Given the description of an element on the screen output the (x, y) to click on. 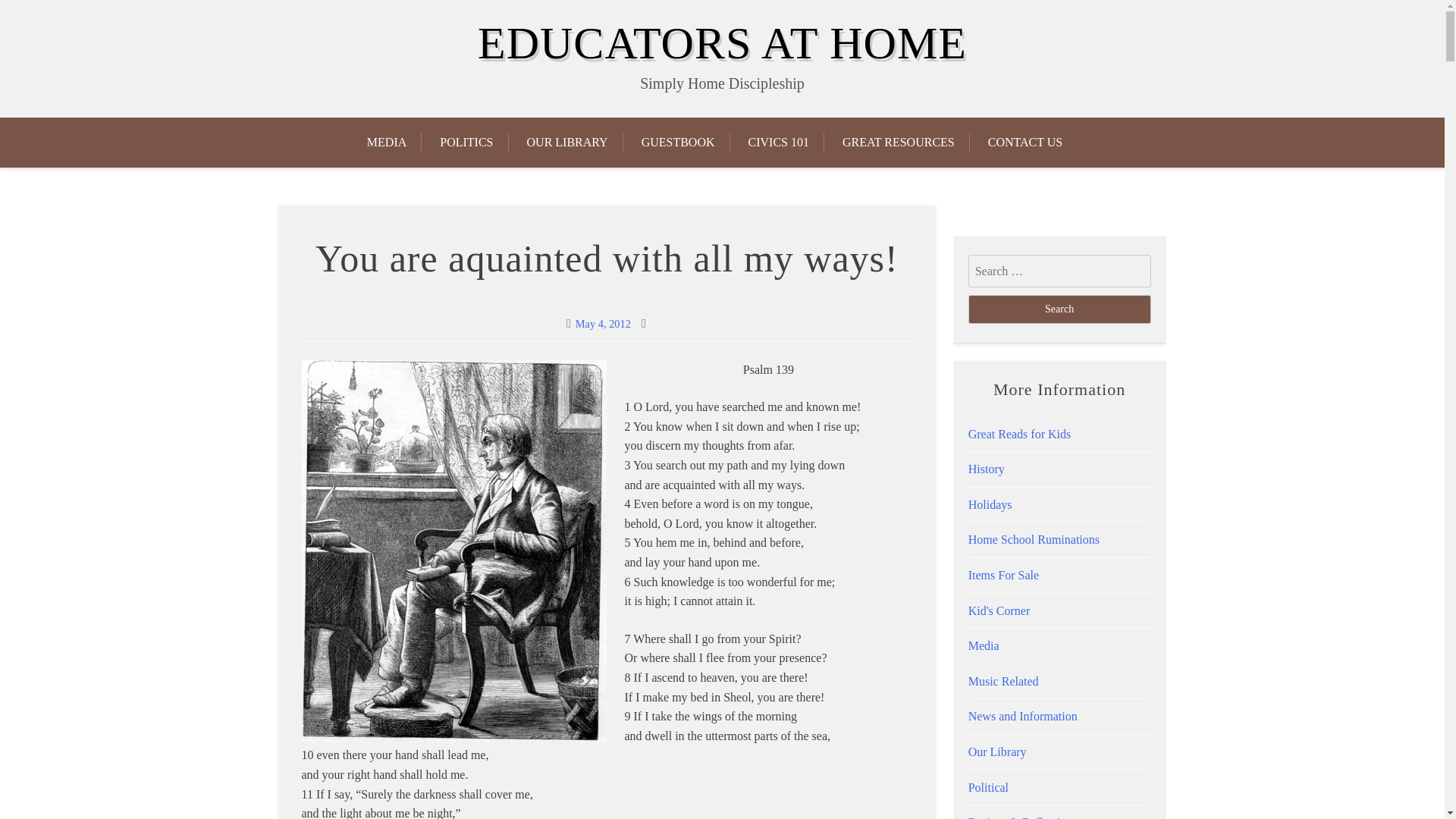
OUR LIBRARY (567, 142)
CONTACT US (1024, 142)
Holidays (989, 504)
EDUCATORS AT HOME (721, 42)
Great Reads for Kids (1019, 433)
Media (983, 645)
History (986, 468)
CIVICS 101 (778, 142)
Search (1059, 308)
POLITICS (466, 142)
